Given the description of an element on the screen output the (x, y) to click on. 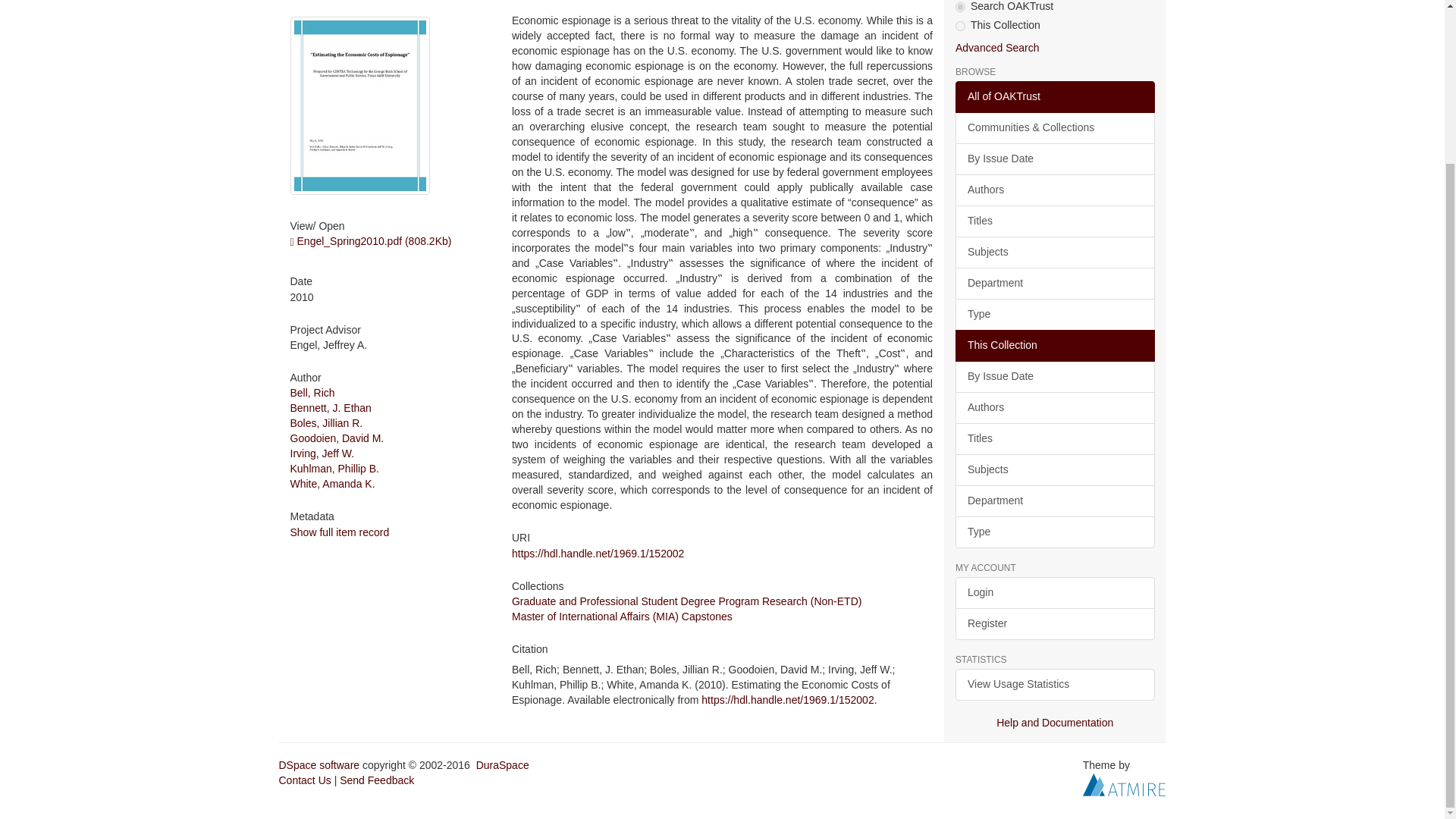
Irving, Jeff W. (321, 453)
Show full item record (338, 532)
Atmire NV (1124, 784)
Goodoien, David M. (336, 438)
Bell, Rich (311, 392)
White, Amanda K. (331, 483)
Boles, Jillian R. (325, 422)
Kuhlman, Phillip B. (333, 468)
Bennett, J. Ethan (330, 408)
